Given the description of an element on the screen output the (x, y) to click on. 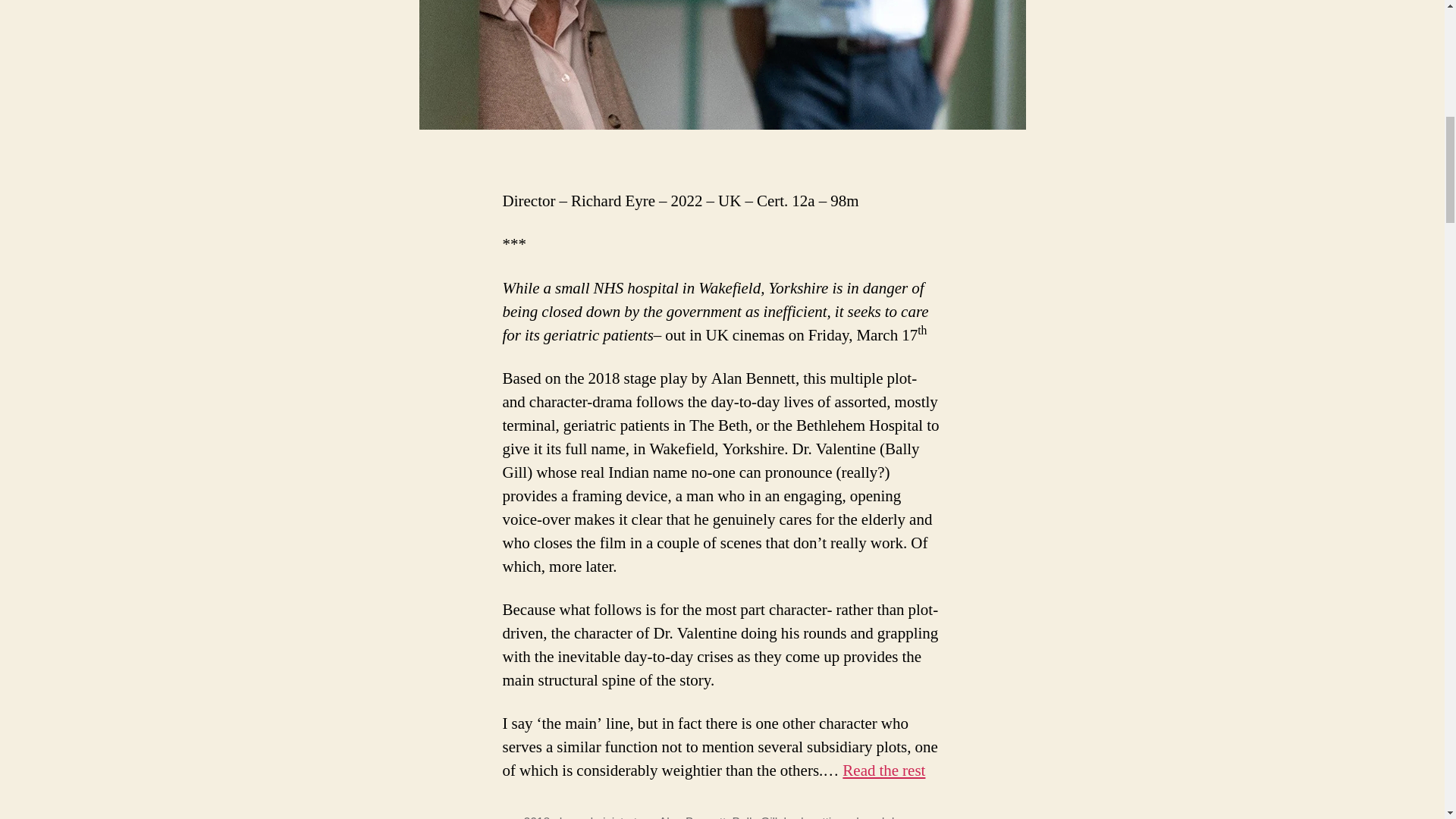
Read the rest (883, 770)
Alan Bennett (692, 817)
2018 play (547, 817)
administrators (616, 817)
